Given the description of an element on the screen output the (x, y) to click on. 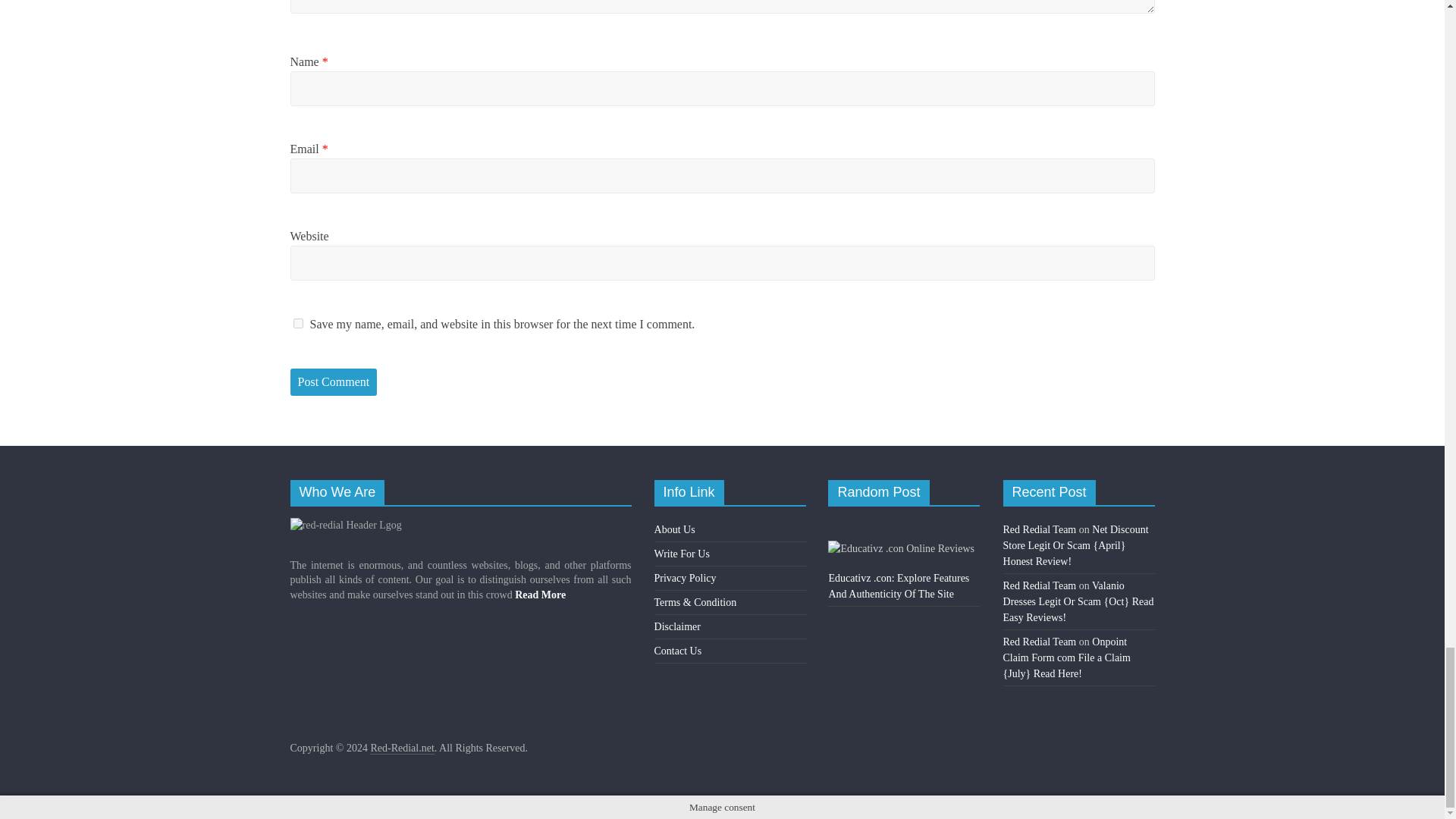
yes (297, 323)
Post Comment (333, 381)
